Given the description of an element on the screen output the (x, y) to click on. 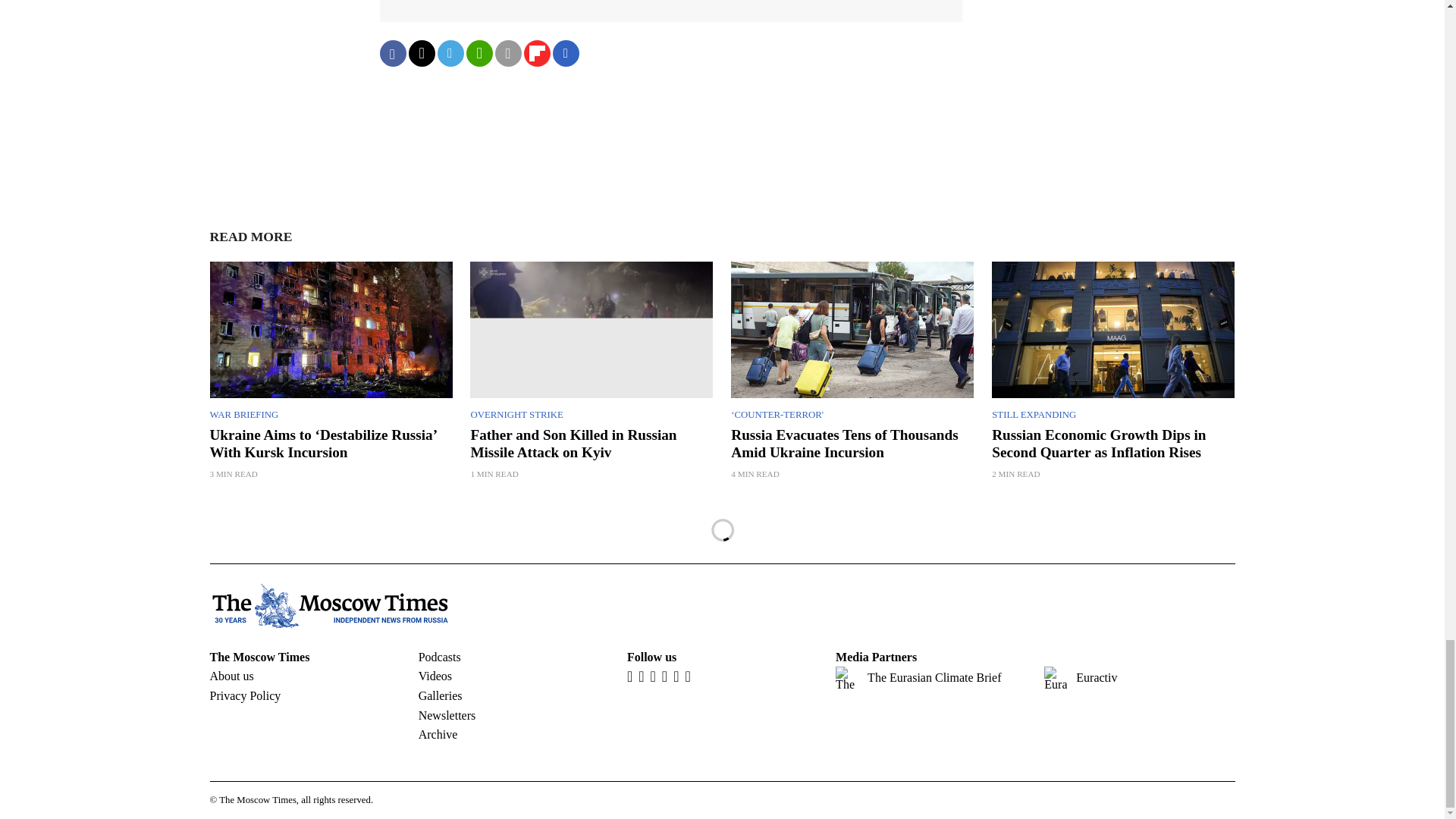
Share on Facebook (392, 53)
Share on Telegram (449, 53)
Share on Twitter (420, 53)
Share on Flipboard (536, 53)
